Given the description of an element on the screen output the (x, y) to click on. 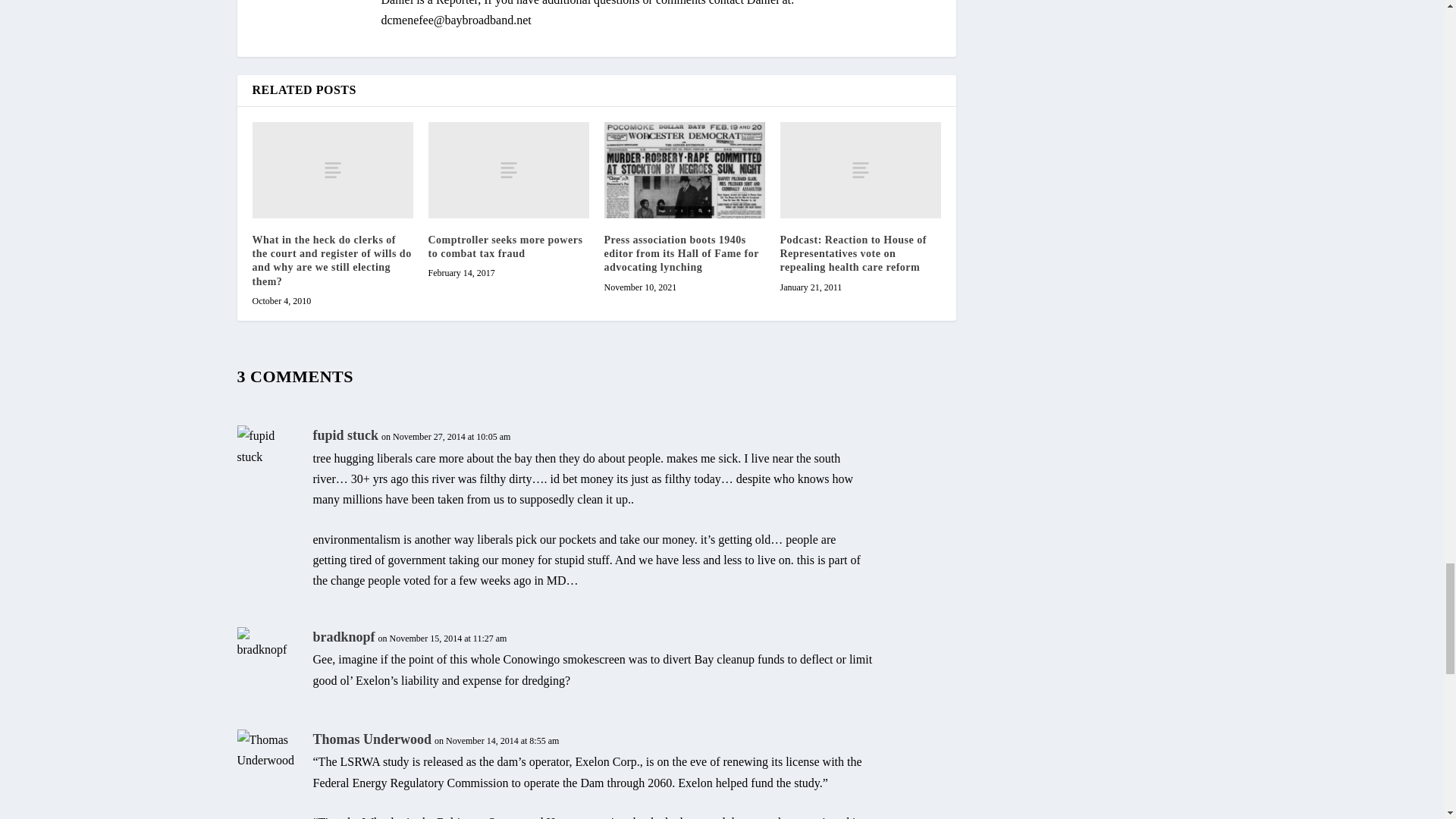
Comptroller seeks more powers to combat tax fraud (505, 246)
Comptroller seeks more powers to combat tax fraud (508, 170)
